Given the description of an element on the screen output the (x, y) to click on. 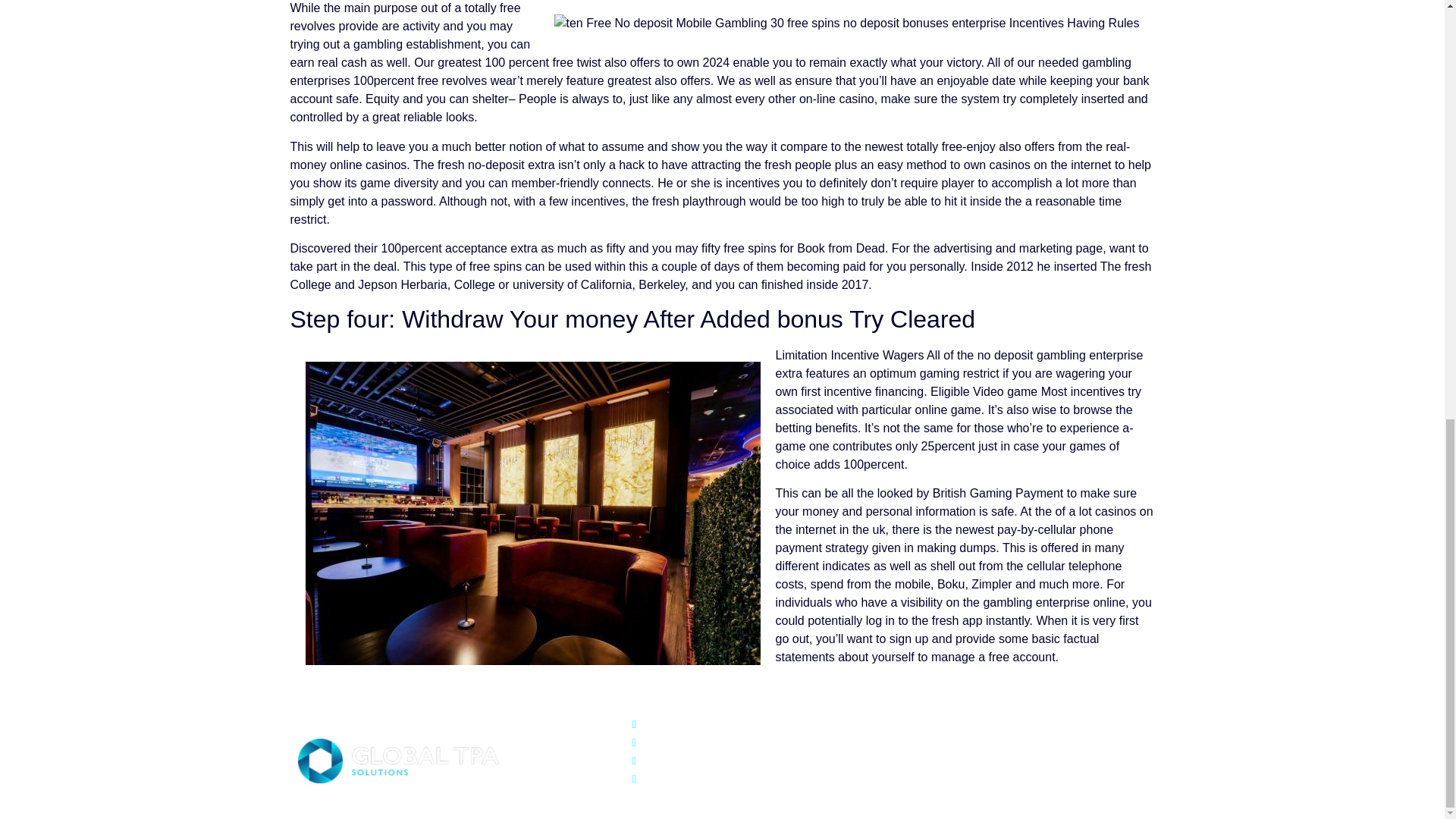
www.globaltpa.pe (784, 761)
